Given the description of an element on the screen output the (x, y) to click on. 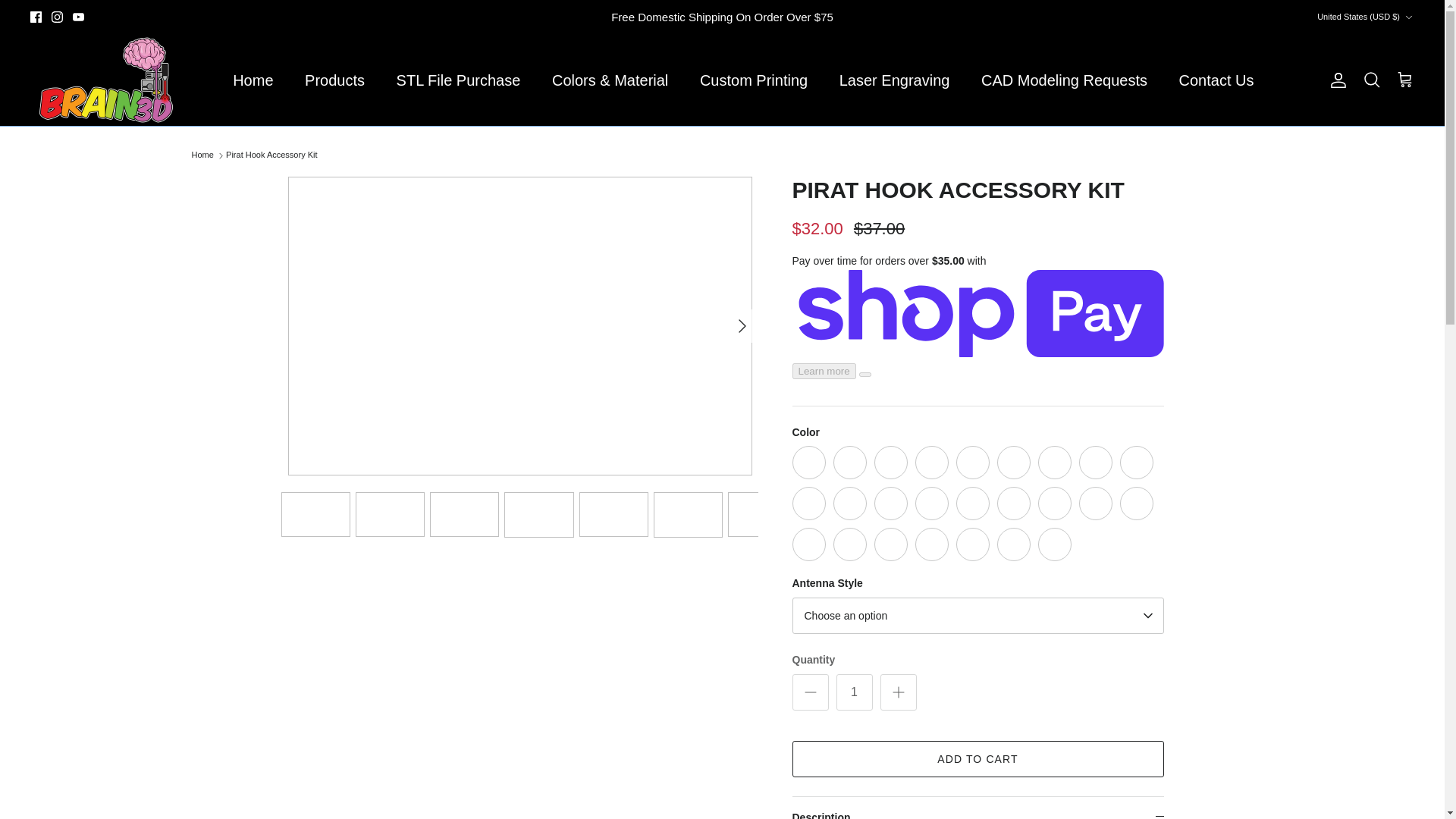
Instagram (56, 16)
Brain3D (106, 80)
RIGHT (741, 325)
Plus (897, 692)
Minus (809, 692)
Facebook (36, 16)
Instagram (56, 16)
Facebook (36, 16)
Youtube (78, 16)
Down (1408, 17)
Youtube (78, 16)
1 (853, 692)
